Given the description of an element on the screen output the (x, y) to click on. 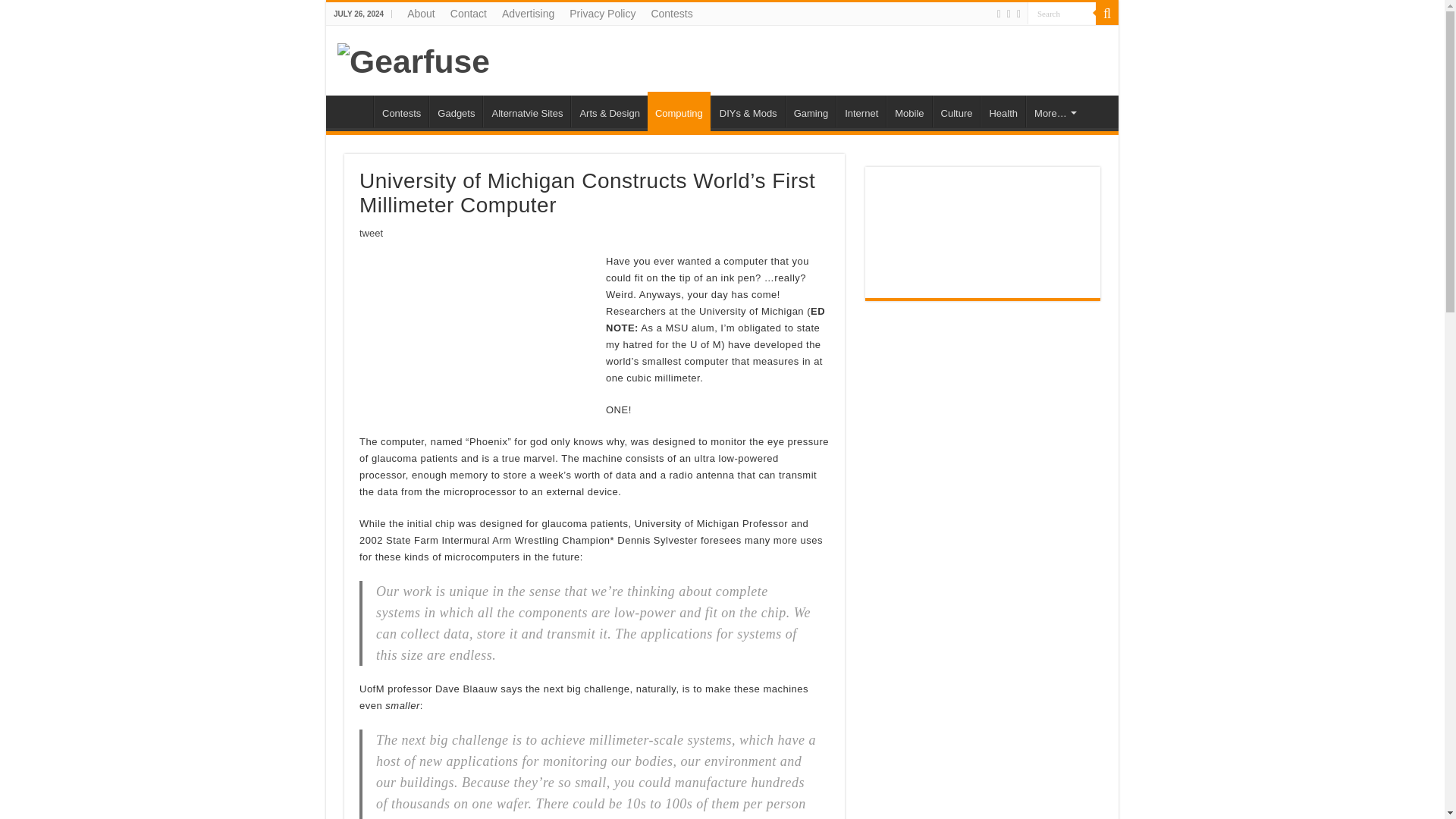
Search (1061, 13)
Contests (401, 111)
Facebook (1008, 13)
Rss (999, 13)
Mobile (908, 111)
Advertising (528, 13)
Search (1107, 13)
Health (1002, 111)
About (420, 13)
Computing (678, 111)
Gaming (810, 111)
Culture (956, 111)
Internet (860, 111)
Privacy Policy (602, 13)
Contests (671, 13)
